Given the description of an element on the screen output the (x, y) to click on. 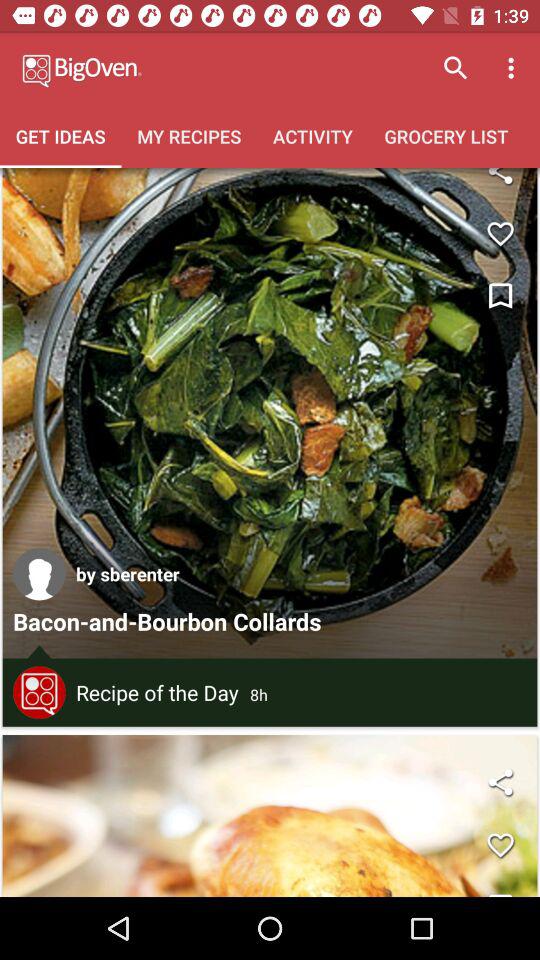
turn off icon above the bacon and bourbon (127, 573)
